Given the description of an element on the screen output the (x, y) to click on. 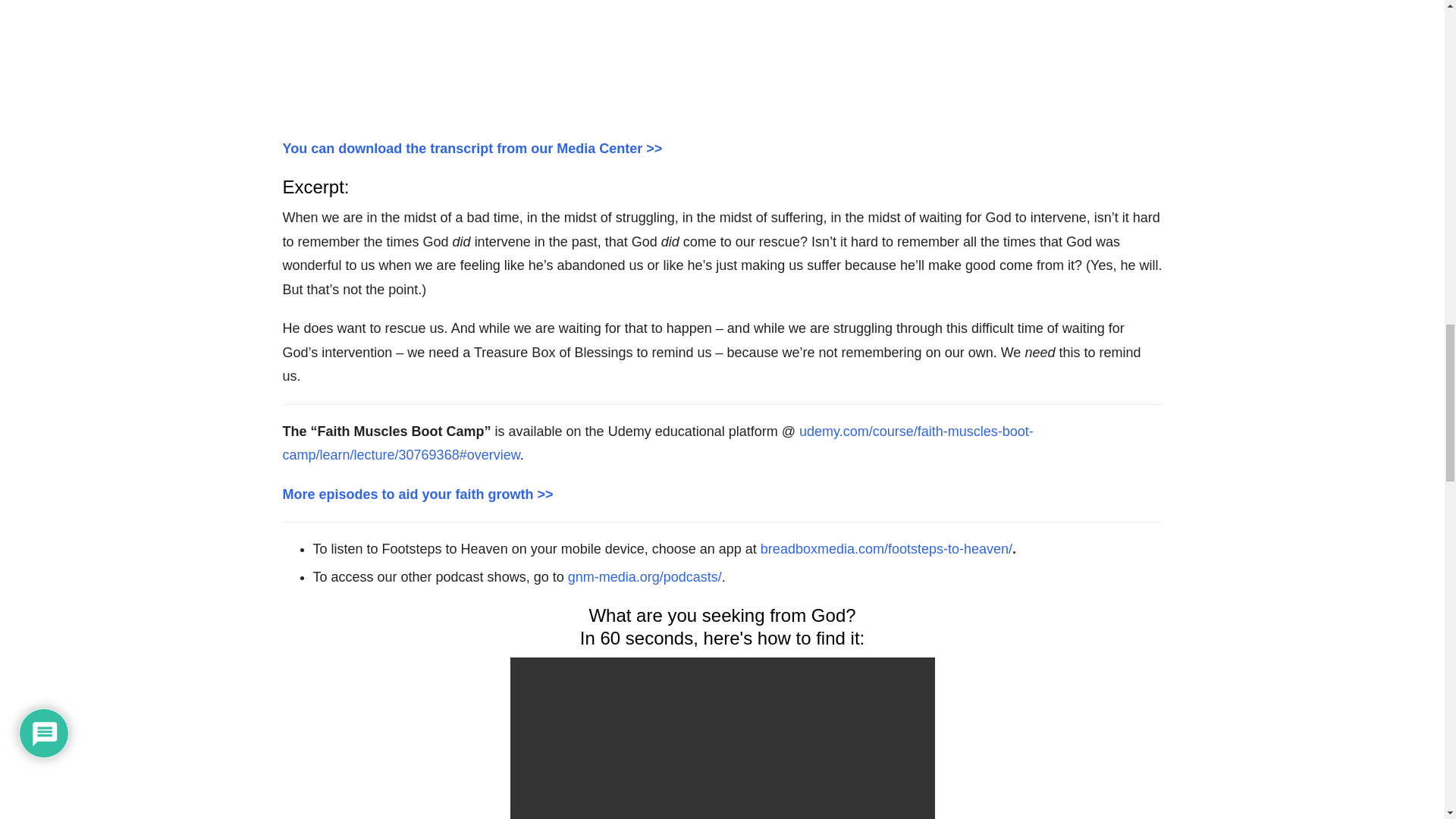
Stressed Out? Make a Treasure Box of Blessings (721, 56)
